Given the description of an element on the screen output the (x, y) to click on. 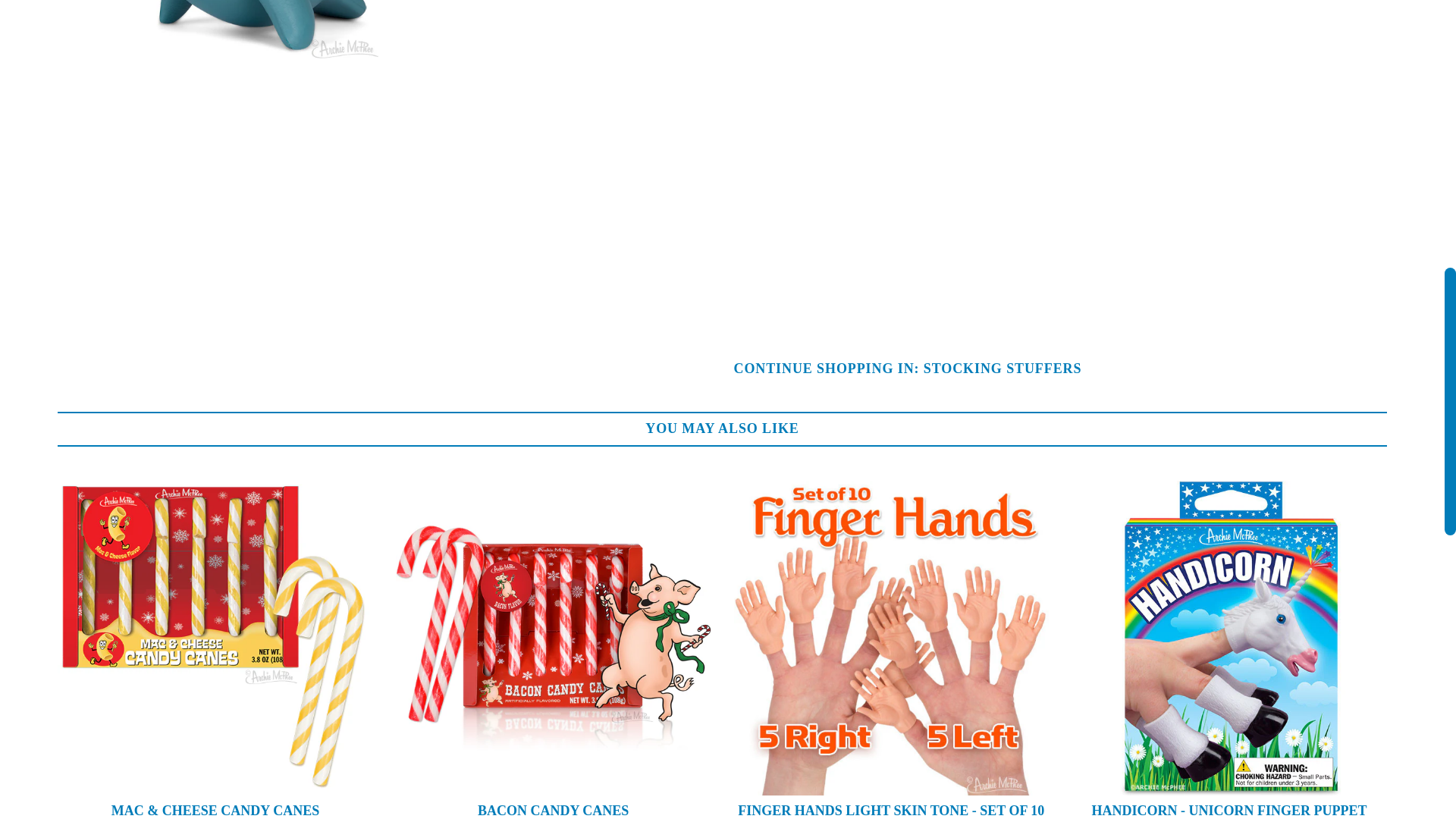
Bacon Candy Canes (553, 638)
Finger Hands Light Skin Tone - Set of 10 (891, 638)
Handicorn - Unicorn Finger Puppet (1229, 638)
